Given the description of an element on the screen output the (x, y) to click on. 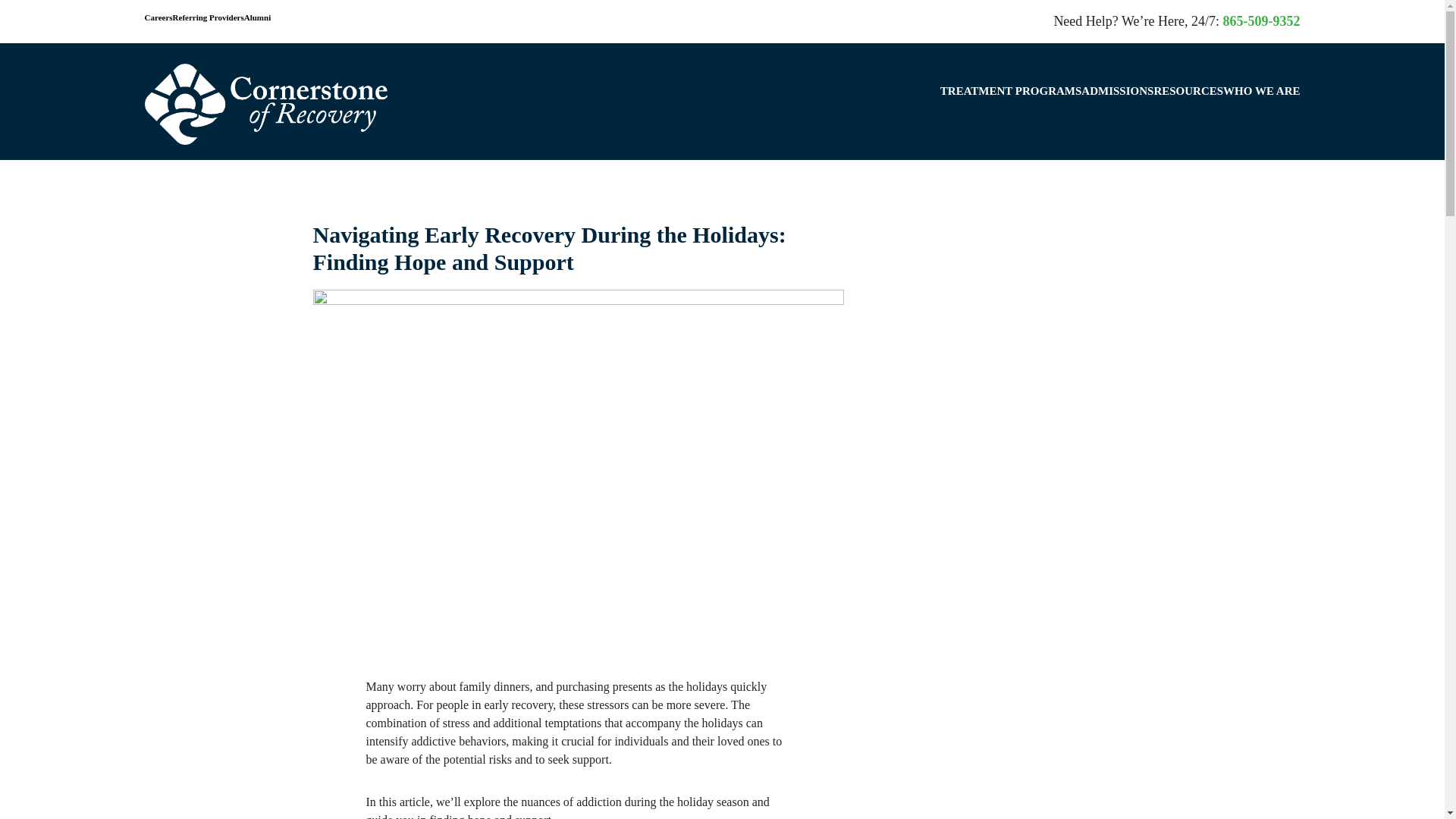
Cornerstone Main White - Plain (265, 103)
Careers (157, 17)
Alumni (257, 17)
TREATMENT PROGRAMS (1010, 104)
Referring Providers (208, 17)
865-509-9352 (1261, 20)
WHO WE ARE (1261, 104)
RESOURCES (1188, 104)
ADMISSIONS (1117, 104)
